Given the description of an element on the screen output the (x, y) to click on. 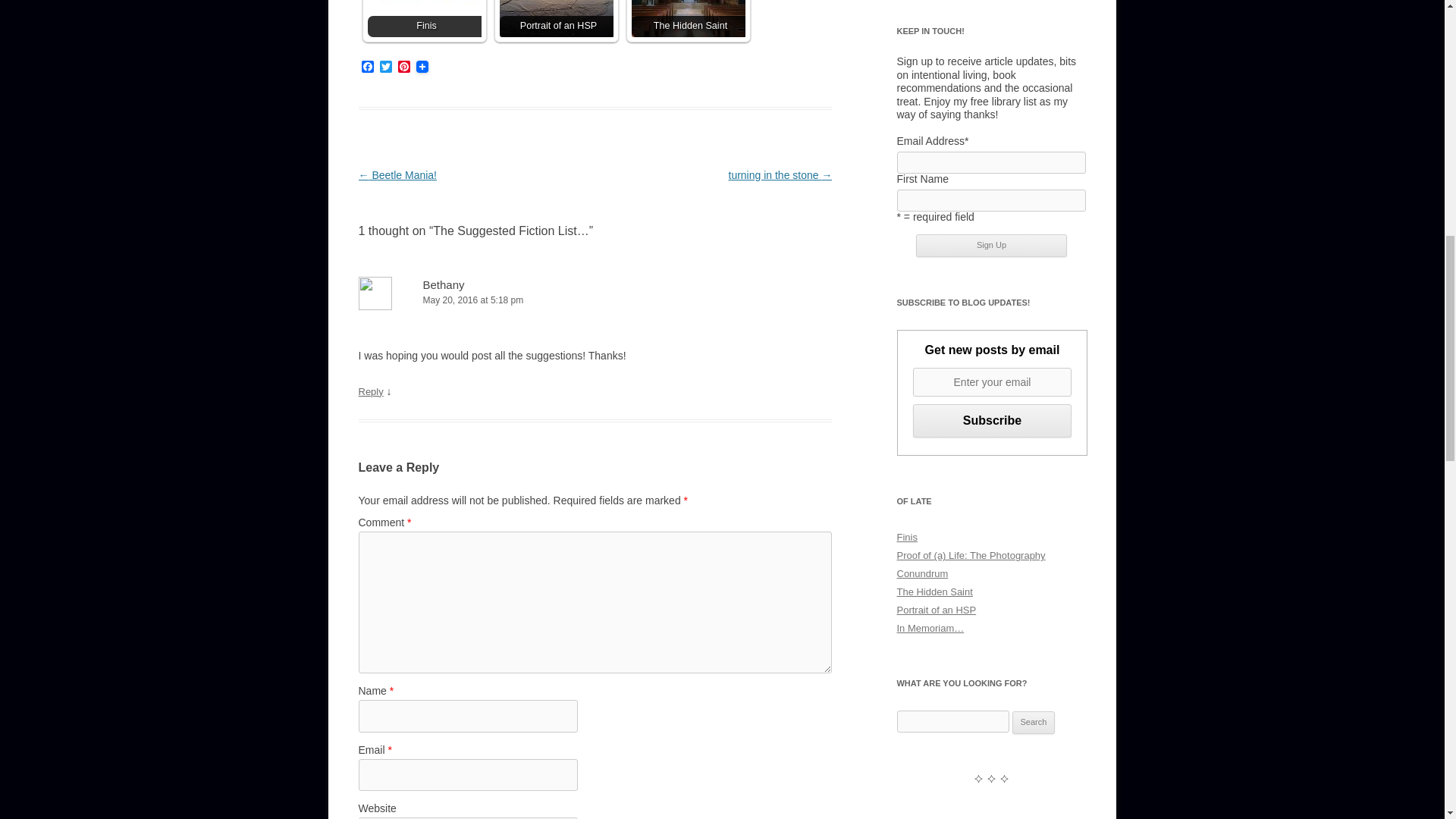
The Hidden Saint (687, 18)
Subscribe (991, 421)
Twitter (384, 67)
Portrait of an HSP (555, 18)
Finis (423, 18)
Twitter (384, 67)
Portrait of an HSP (555, 18)
The Hidden Saint (687, 18)
Facebook (366, 67)
Pinterest (403, 67)
Finis (423, 18)
Pinterest (403, 67)
Search (1033, 722)
Facebook (366, 67)
Sign Up (991, 245)
